Given the description of an element on the screen output the (x, y) to click on. 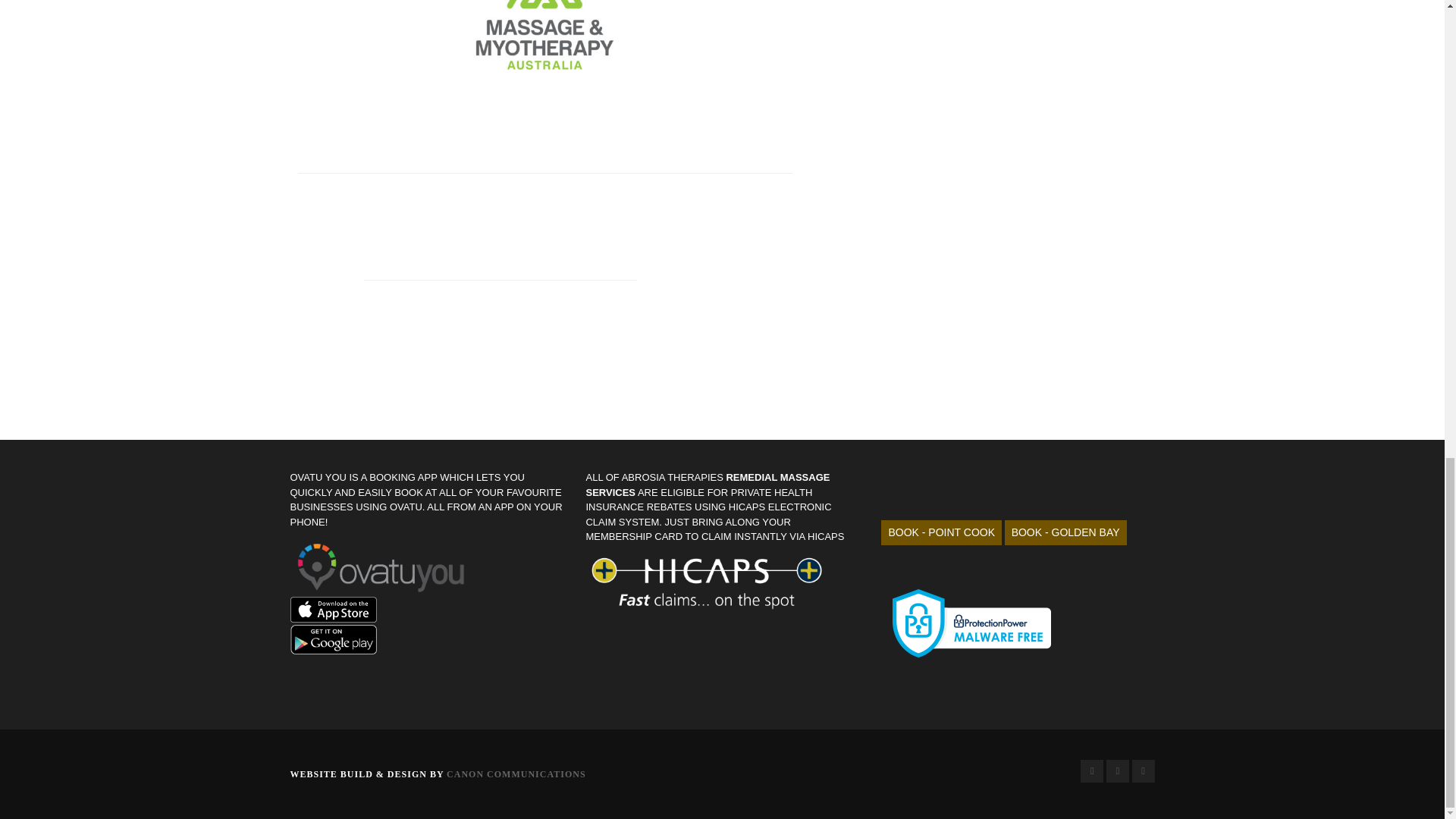
BOOK - POINT COOK (940, 532)
CANON COMMUNICATIONS (515, 774)
BOOK - GOLDEN BAY (1065, 532)
